Given the description of an element on the screen output the (x, y) to click on. 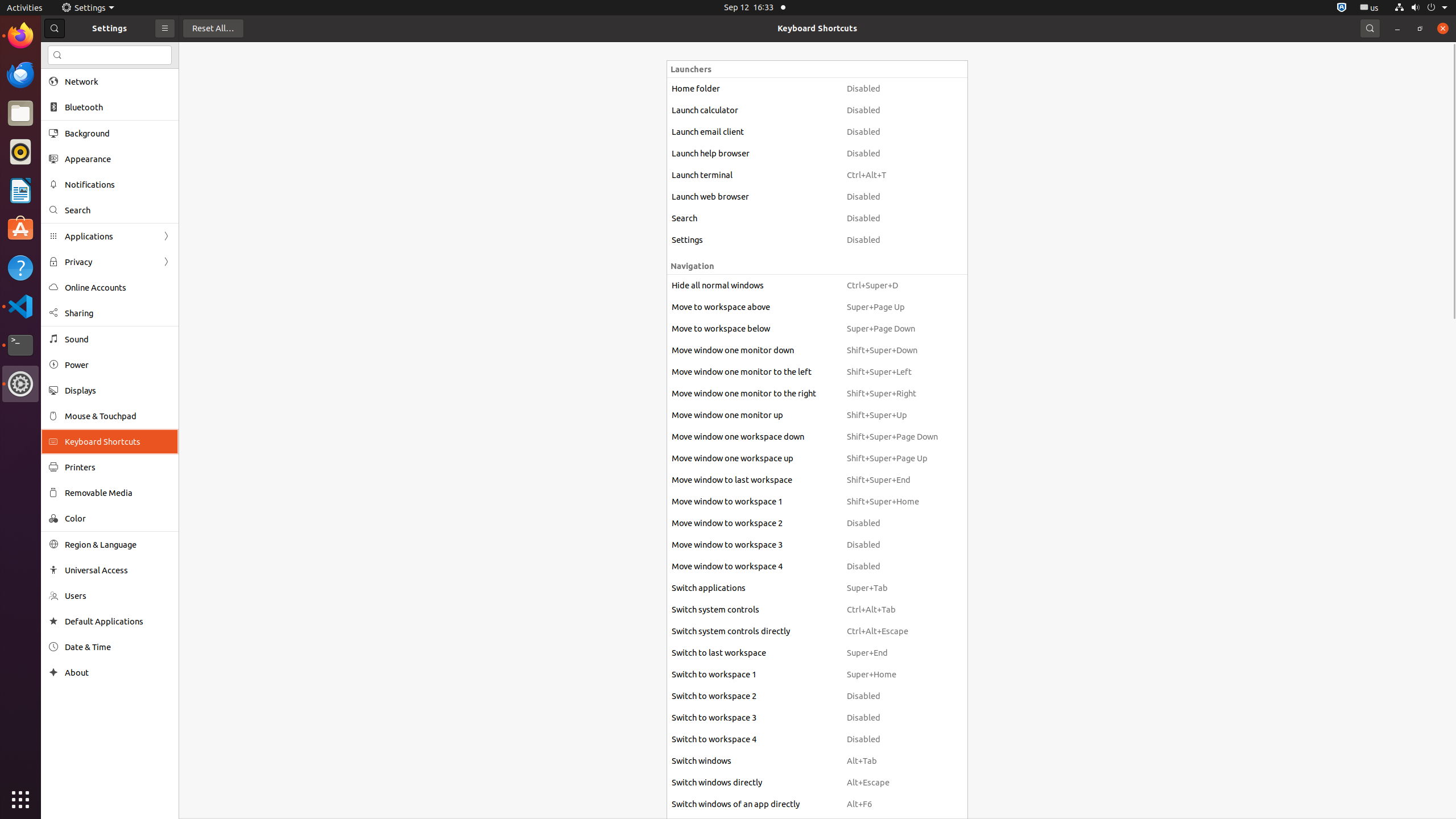
edit-find-symbolic Element type: icon (56, 54)
Activities Element type: label (24, 7)
Super+End Element type: label (891, 652)
Printers Element type: label (117, 467)
Move window one monitor down Element type: label (753, 349)
